Given the description of an element on the screen output the (x, y) to click on. 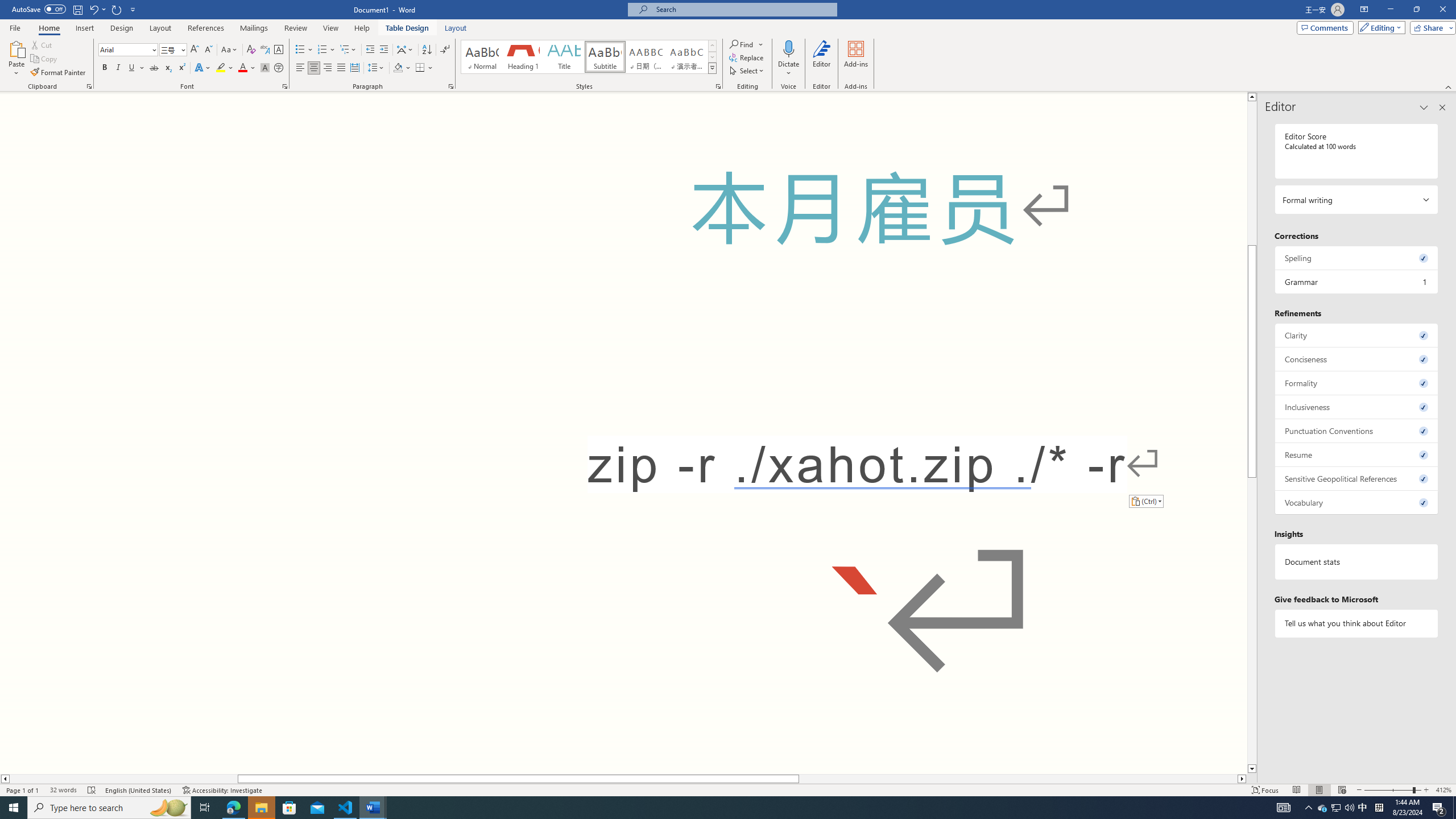
Superscript (180, 67)
Change Case (229, 49)
Conciseness, 0 issues. Press space or enter to review items. (1356, 359)
Asian Layout (405, 49)
Word Count 32 words (63, 790)
Shading RGB(0, 0, 0) (397, 67)
Text Highlight Color Yellow (220, 67)
Grow Font (193, 49)
